Given the description of an element on the screen output the (x, y) to click on. 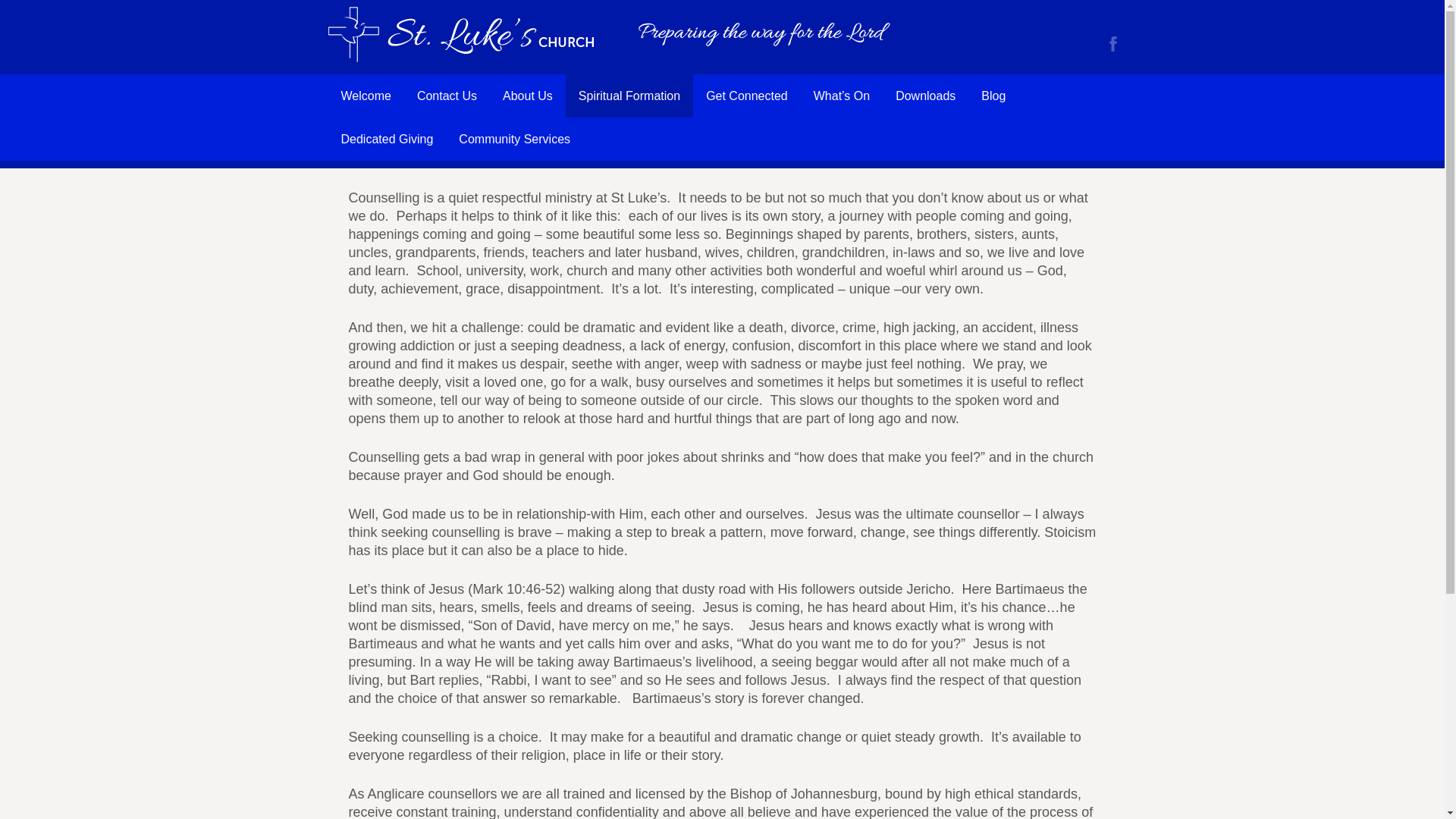
Spiritual Formation (629, 95)
Dedicated Giving (386, 138)
Community Services (514, 138)
Downloads (925, 95)
Contact Us (446, 95)
Get Connected (746, 95)
Blog (992, 95)
About Us (527, 95)
Welcome (365, 95)
